Given the description of an element on the screen output the (x, y) to click on. 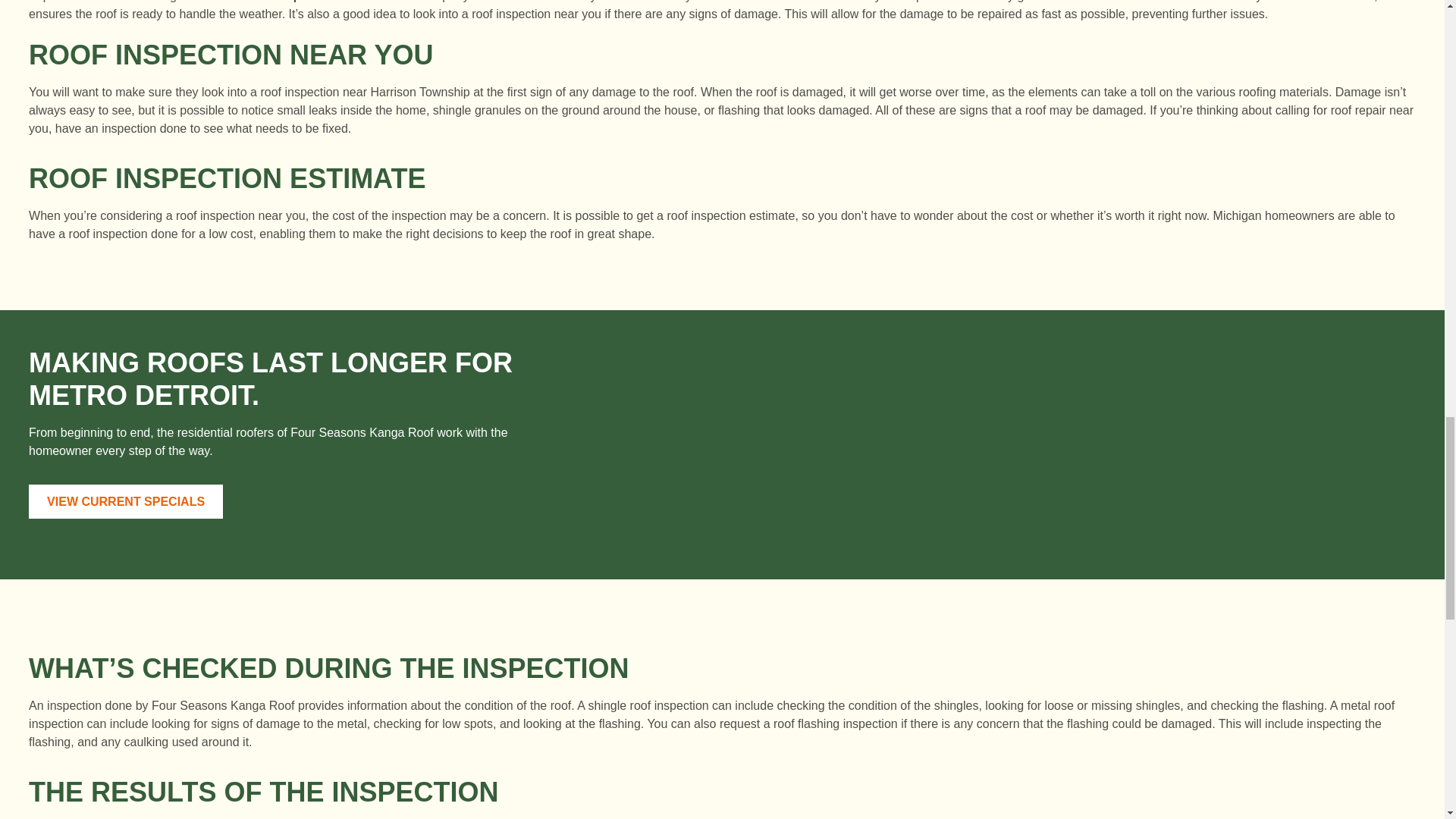
roof inspection (292, 1)
VIEW CURRENT SPECIALS (125, 500)
